Given the description of an element on the screen output the (x, y) to click on. 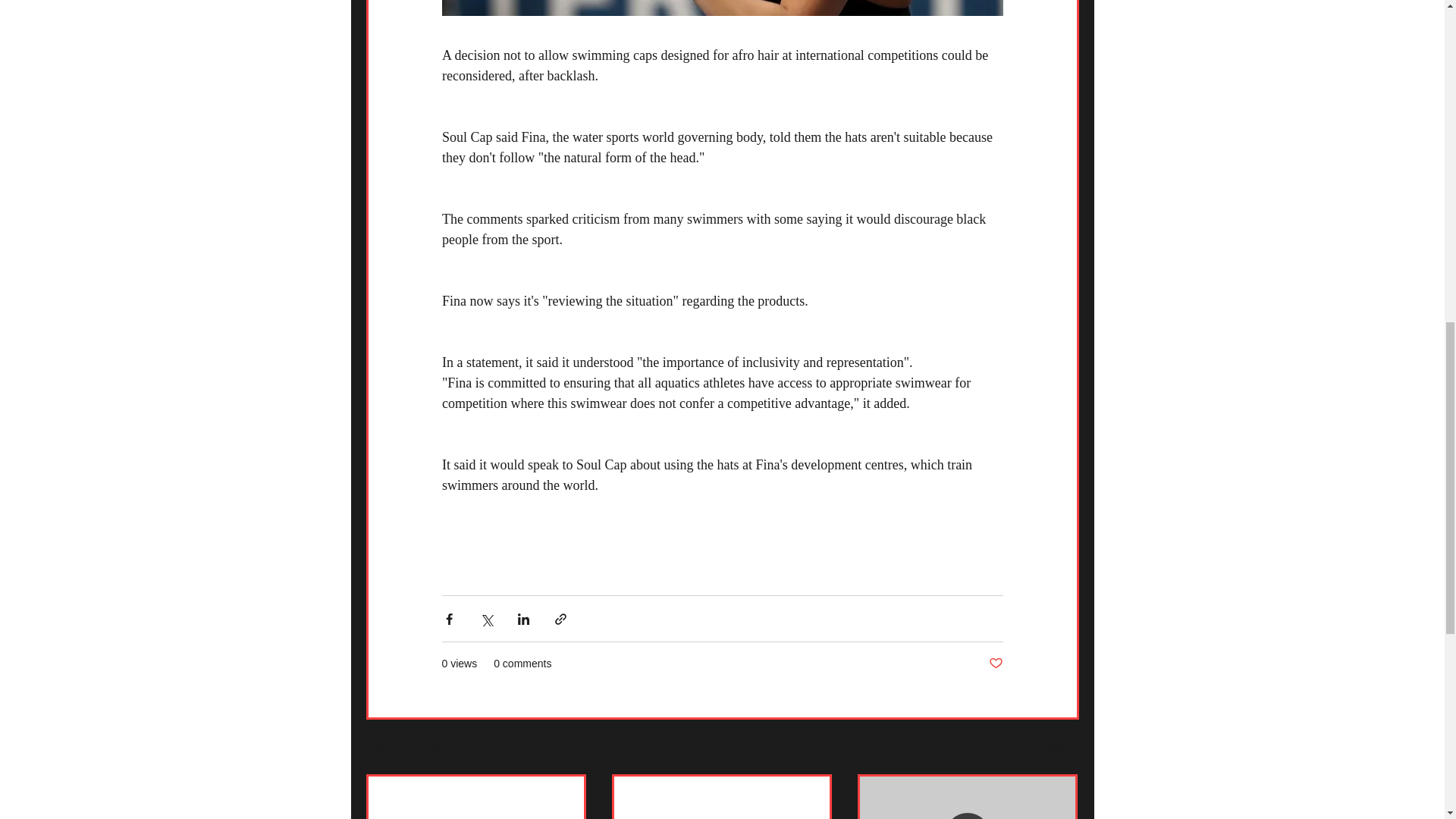
See All (1061, 748)
Post not marked as liked (995, 663)
